Given the description of an element on the screen output the (x, y) to click on. 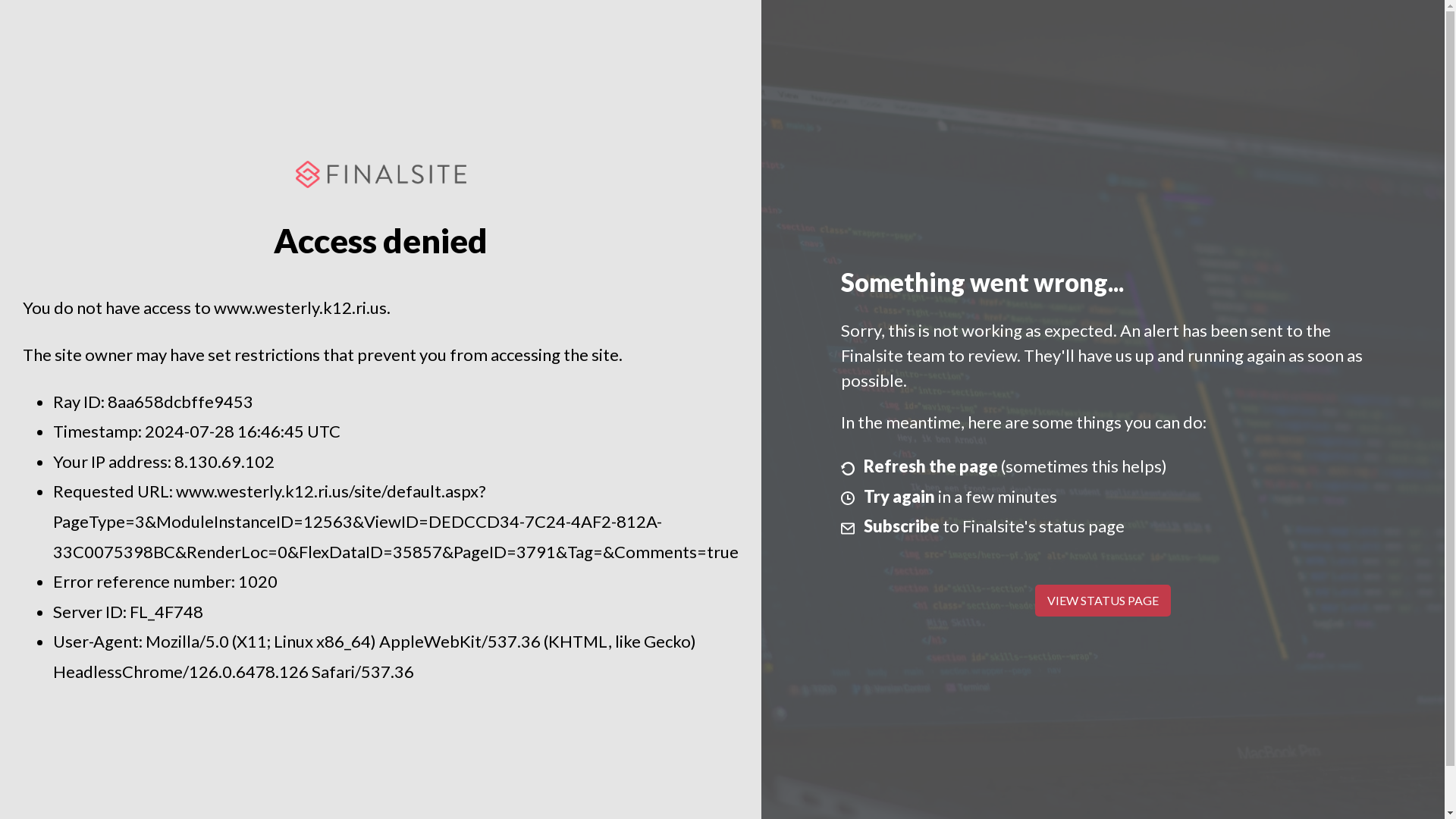
VIEW STATUS PAGE (1102, 600)
